Given the description of an element on the screen output the (x, y) to click on. 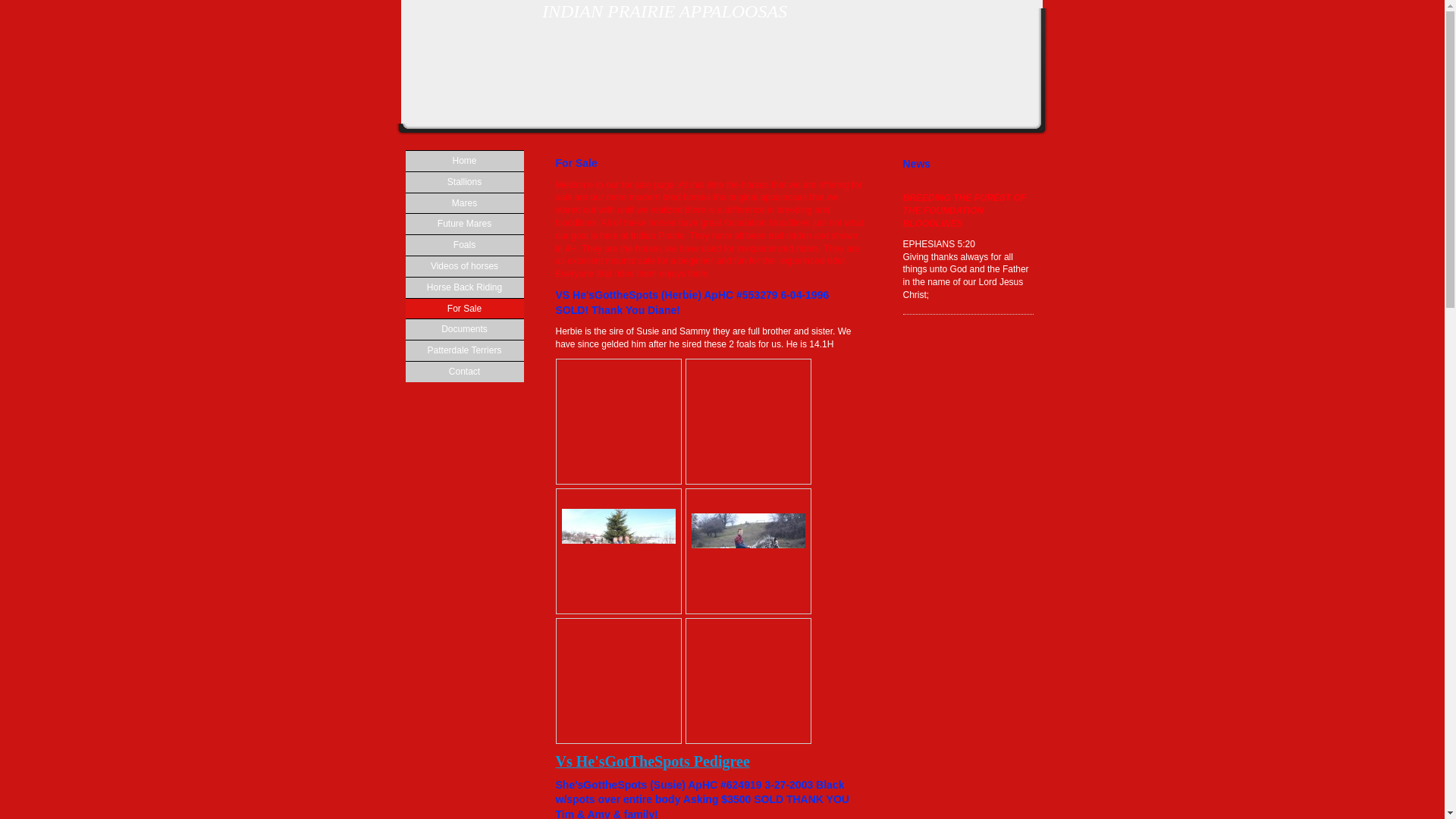
Mares (463, 202)
Contact (463, 371)
Patterdale Terriers (463, 350)
Stallions (463, 181)
Horse Back Riding (463, 287)
Videos of horses (463, 265)
Vs He'sGotTheSpots Pedigree (651, 763)
Foals (463, 244)
Future Mares (463, 223)
For Sale (463, 308)
